Given the description of an element on the screen output the (x, y) to click on. 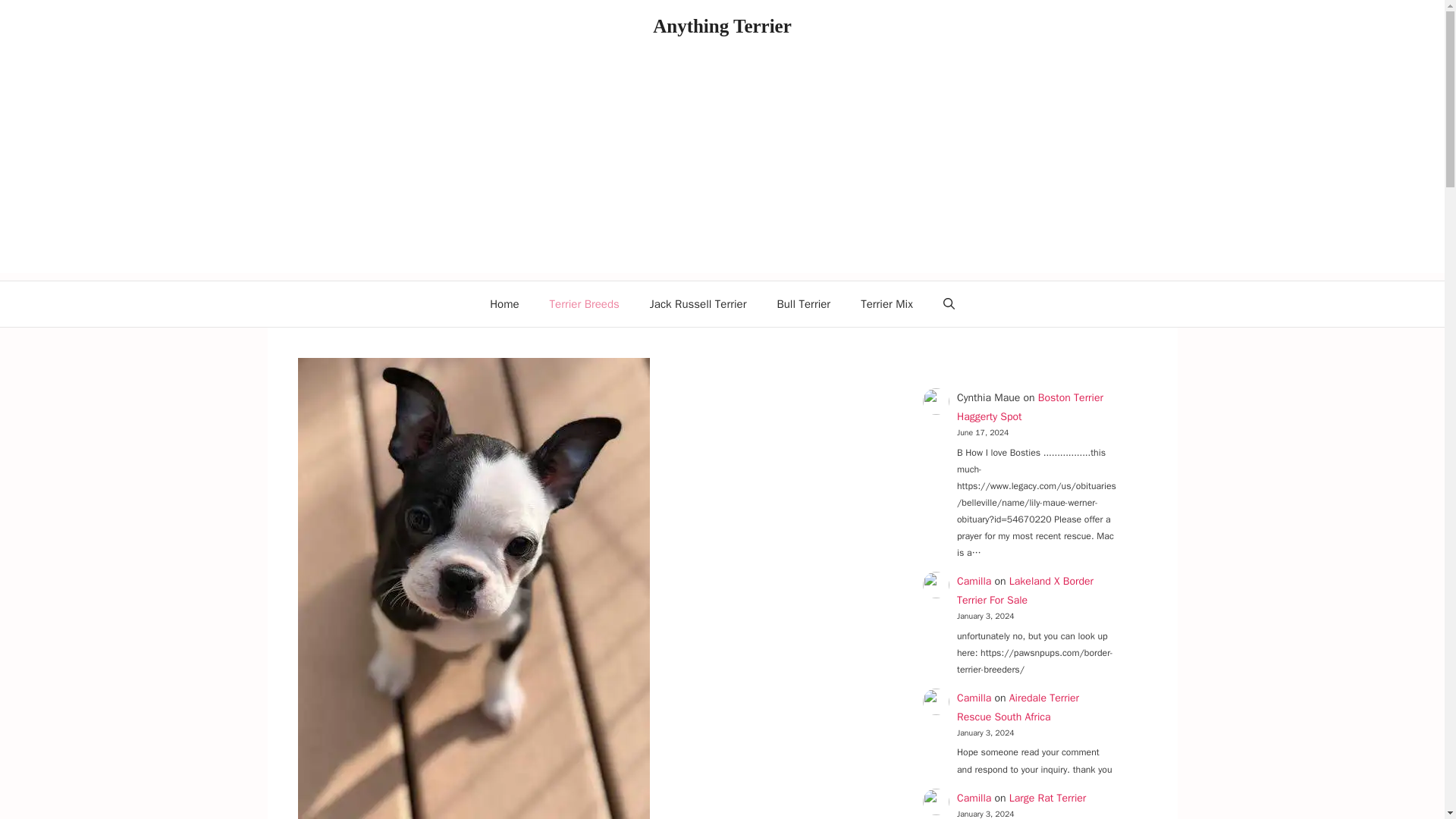
Airedale Terrier Rescue South Africa (1017, 707)
Boston Terrier Haggerty Spot (1029, 407)
Home (504, 303)
Terrier Breeds (584, 303)
Large Rat Terrier (1047, 797)
Camilla (973, 797)
Terrier Mix (886, 303)
Bull Terrier (803, 303)
Camilla (973, 581)
Anything Terrier (722, 25)
Jack Russell Terrier (697, 303)
Camilla (973, 697)
Lakeland X Border Terrier For Sale (1024, 590)
